Given the description of an element on the screen output the (x, y) to click on. 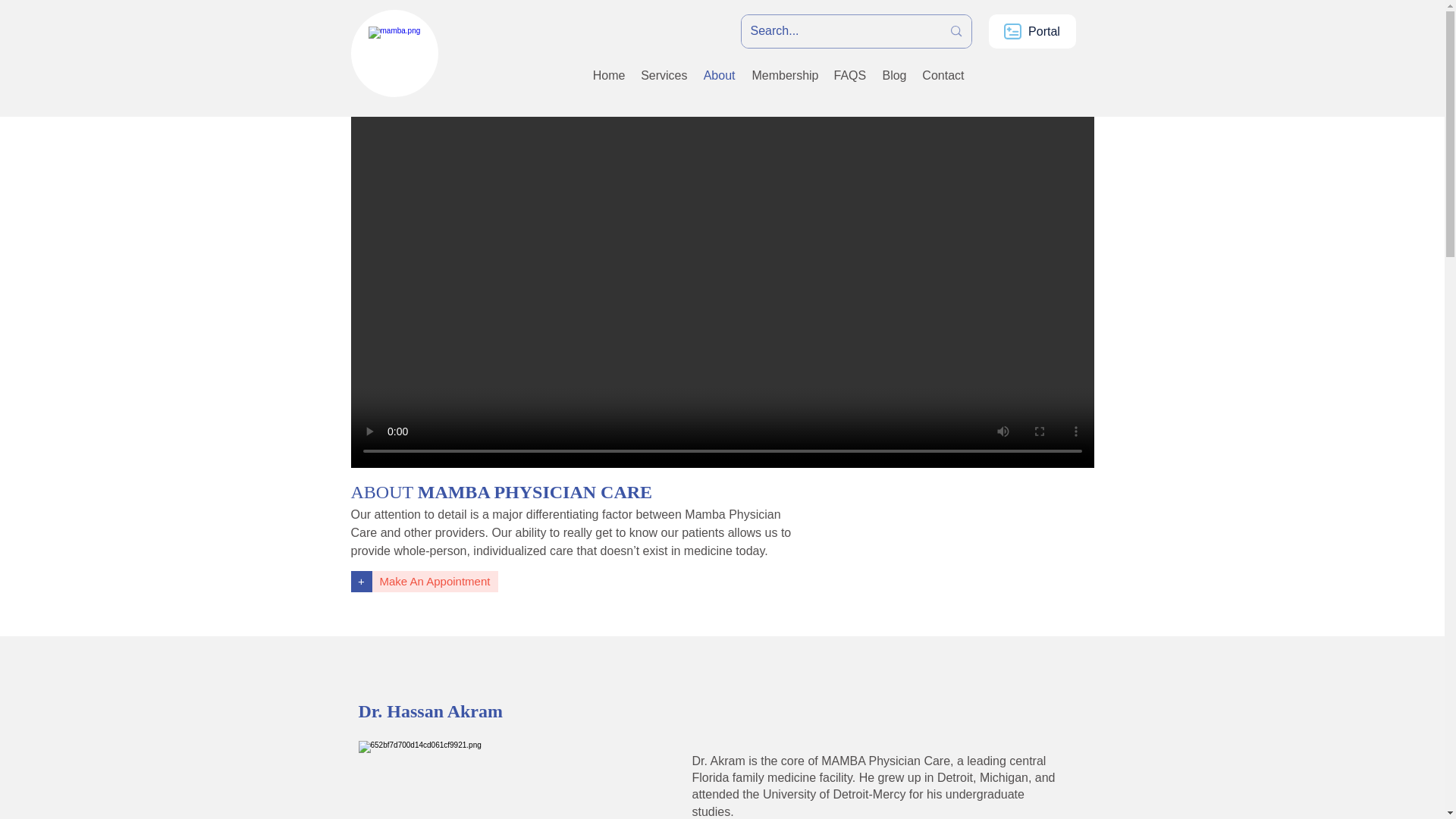
Services (662, 75)
Make An Appointment (434, 581)
Membership (784, 75)
FAQS (850, 75)
About (718, 75)
Contact (943, 75)
Portal (1031, 31)
Home (609, 75)
Blog (893, 75)
